Given the description of an element on the screen output the (x, y) to click on. 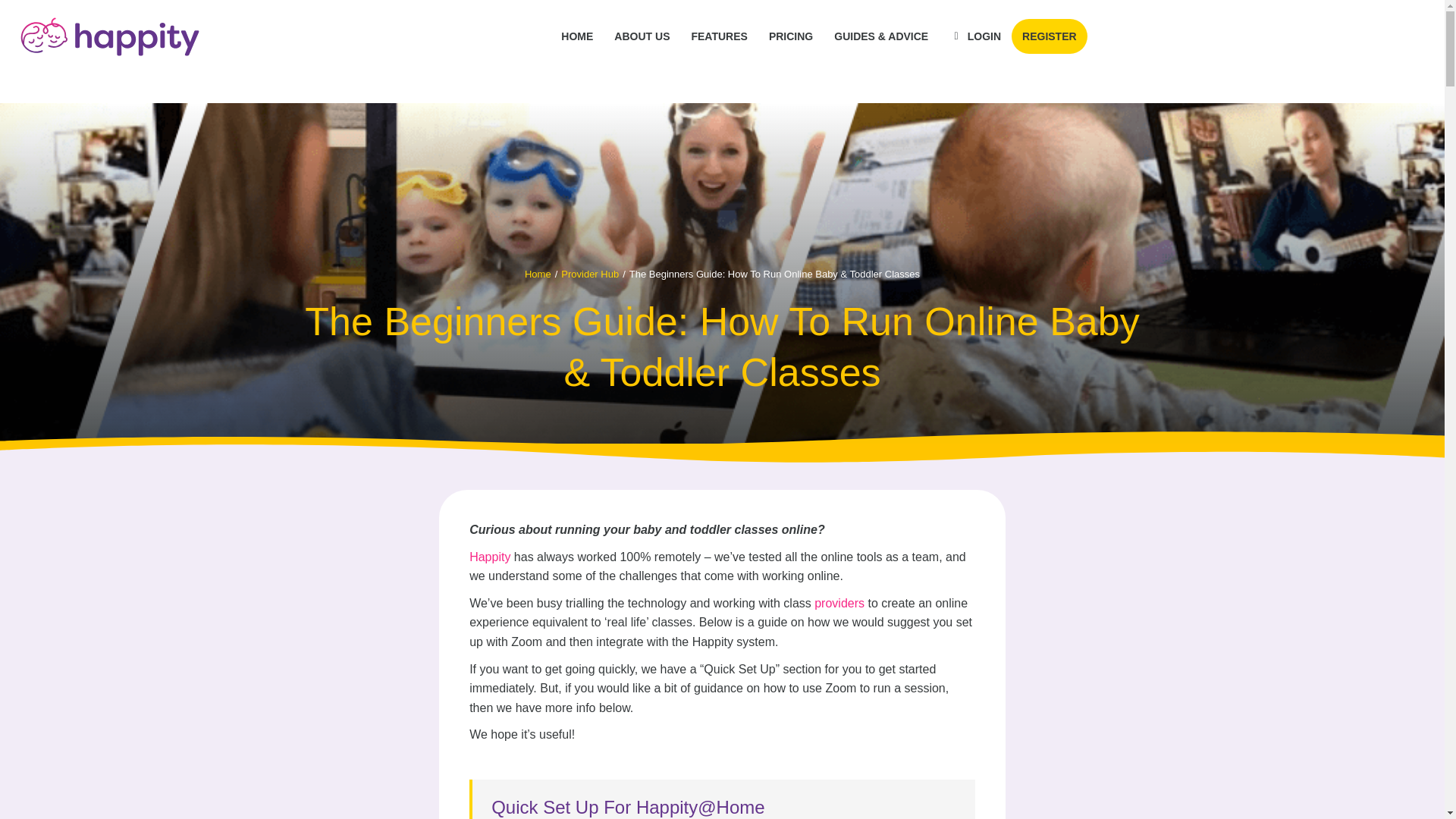
providers (838, 603)
HOME (576, 35)
FEATURES (718, 35)
Home (537, 274)
ABOUT US (641, 35)
LOGIN (975, 35)
Home (537, 274)
REGISTER (1049, 35)
Happity (489, 556)
Provider Hub (589, 274)
PRICING (790, 35)
Provider Hub (589, 274)
